Given the description of an element on the screen output the (x, y) to click on. 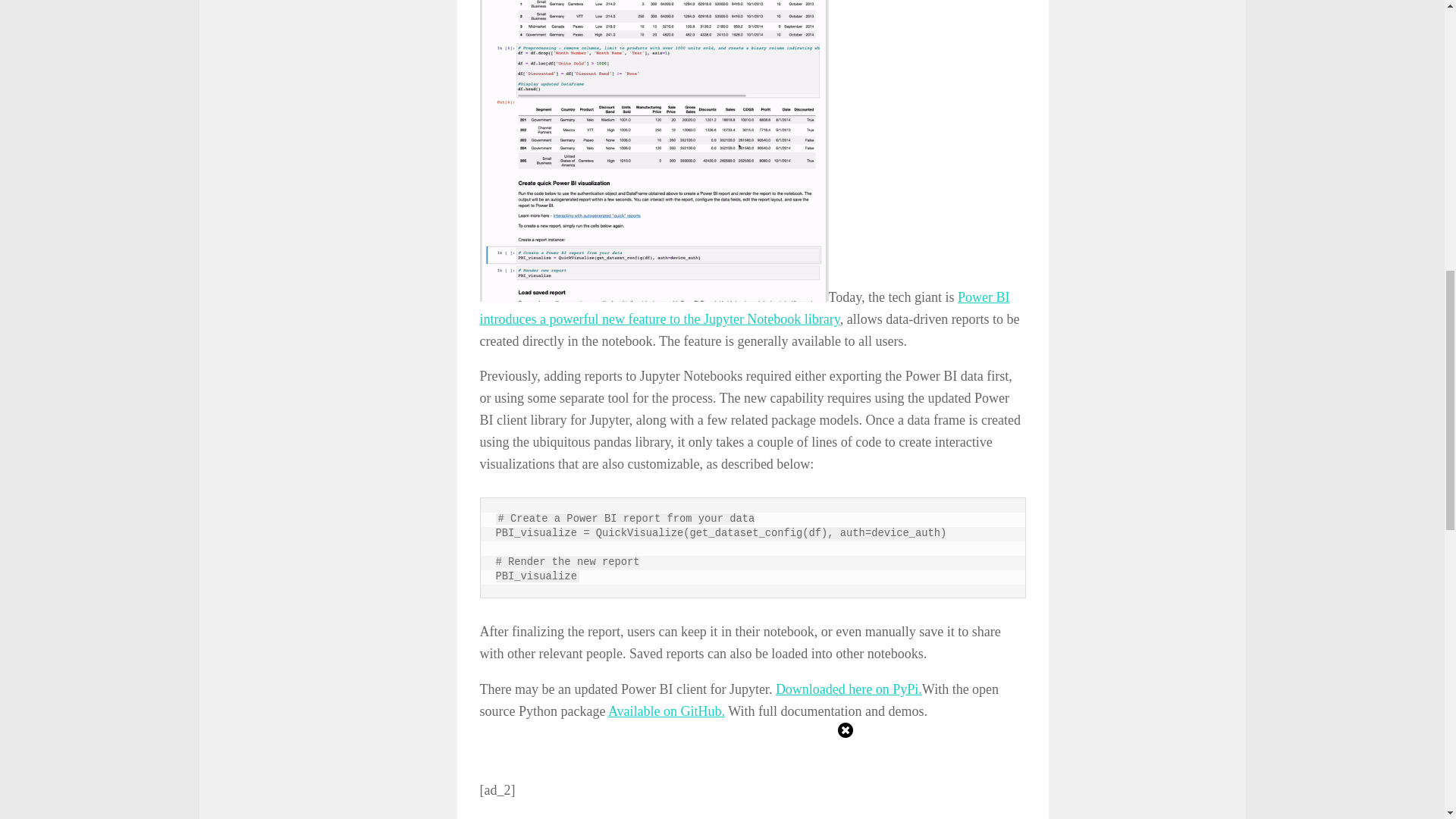
Downloaded here on PyPi. (848, 688)
Available on GitHub. (666, 711)
